Given the description of an element on the screen output the (x, y) to click on. 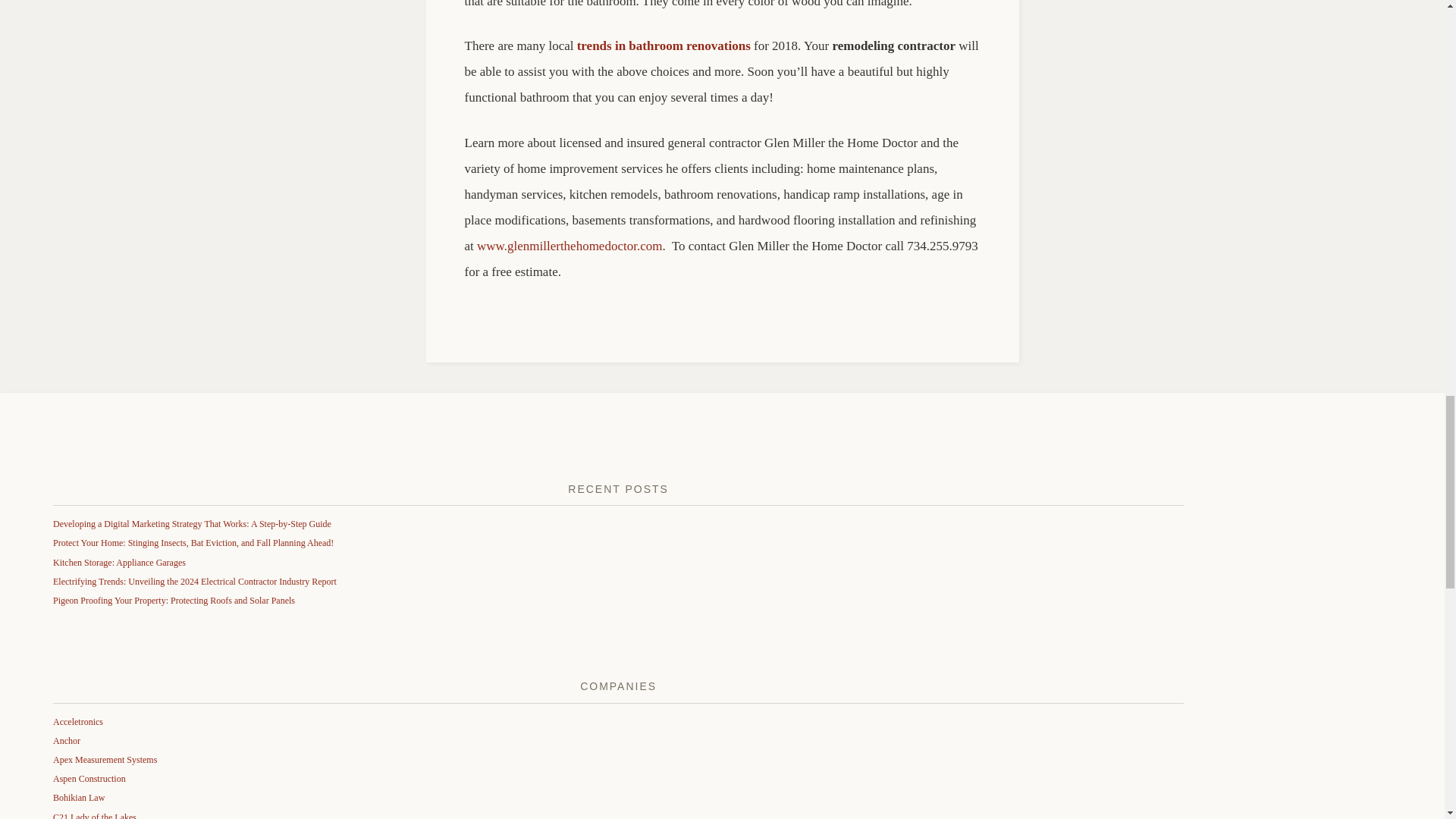
Anchor (66, 740)
www.glenmillerthehomedoctor.com (569, 246)
Acceletronics (77, 721)
Apex Measurement Systems (104, 759)
Aspen Construction (88, 778)
Bohikian Law (78, 797)
Kitchen Storage: Appliance Garages (119, 562)
trends in bathroom renovations (663, 45)
C21 Lady of the Lakes (94, 815)
